Given the description of an element on the screen output the (x, y) to click on. 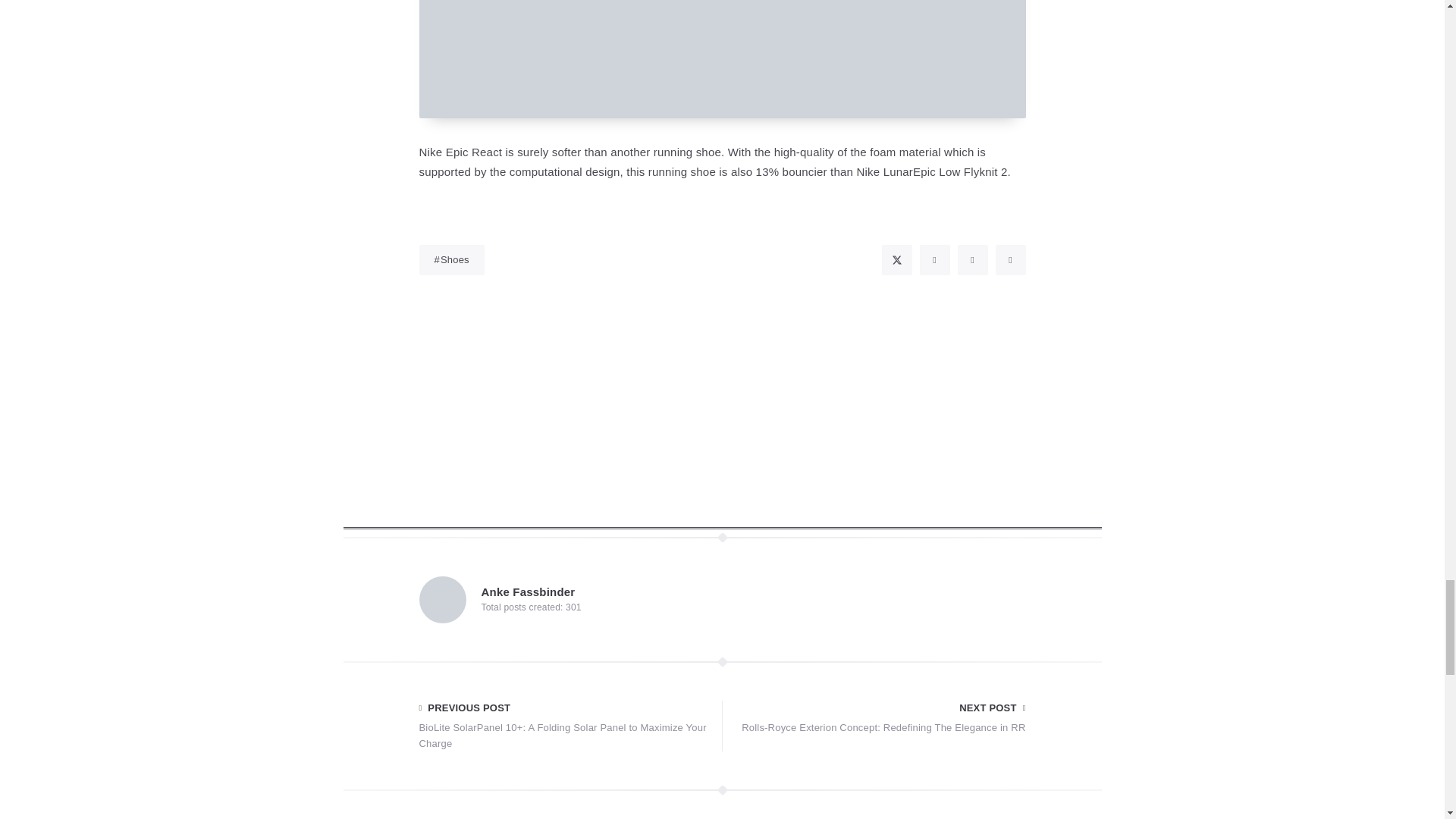
Shoes (451, 259)
Anke Fassbinder (527, 591)
